Given the description of an element on the screen output the (x, y) to click on. 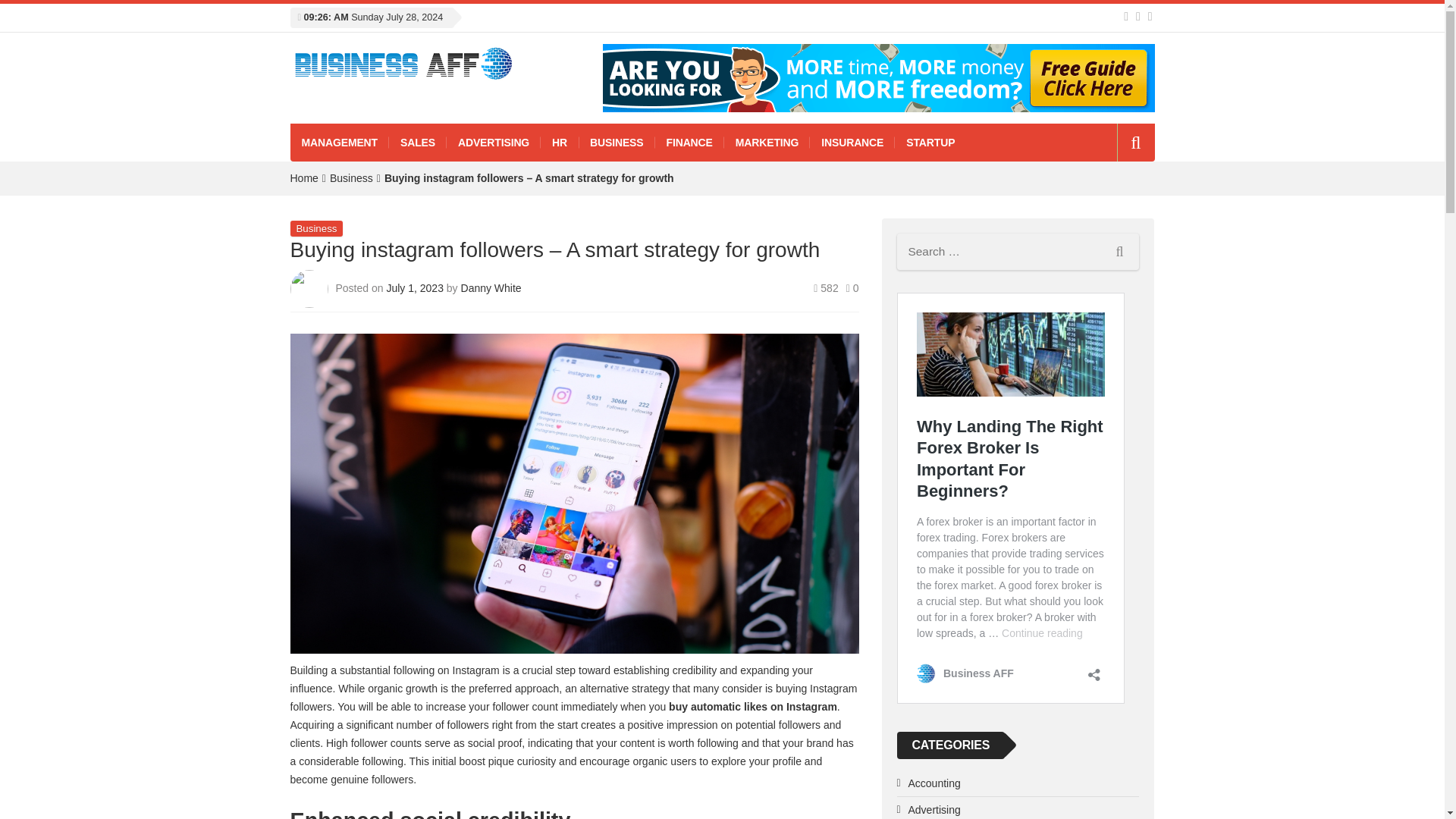
MANAGEMENT (338, 142)
Business (351, 177)
buy automatic likes on Instagram (752, 706)
Home (303, 177)
SALES (417, 142)
STARTUP (930, 142)
ADVERTISING (493, 142)
Danny White (491, 287)
BUSINESS (615, 142)
July 1, 2023 (415, 287)
0 (852, 287)
FINANCE (689, 142)
HR (559, 142)
MARKETING (766, 142)
Home (303, 177)
